Given the description of an element on the screen output the (x, y) to click on. 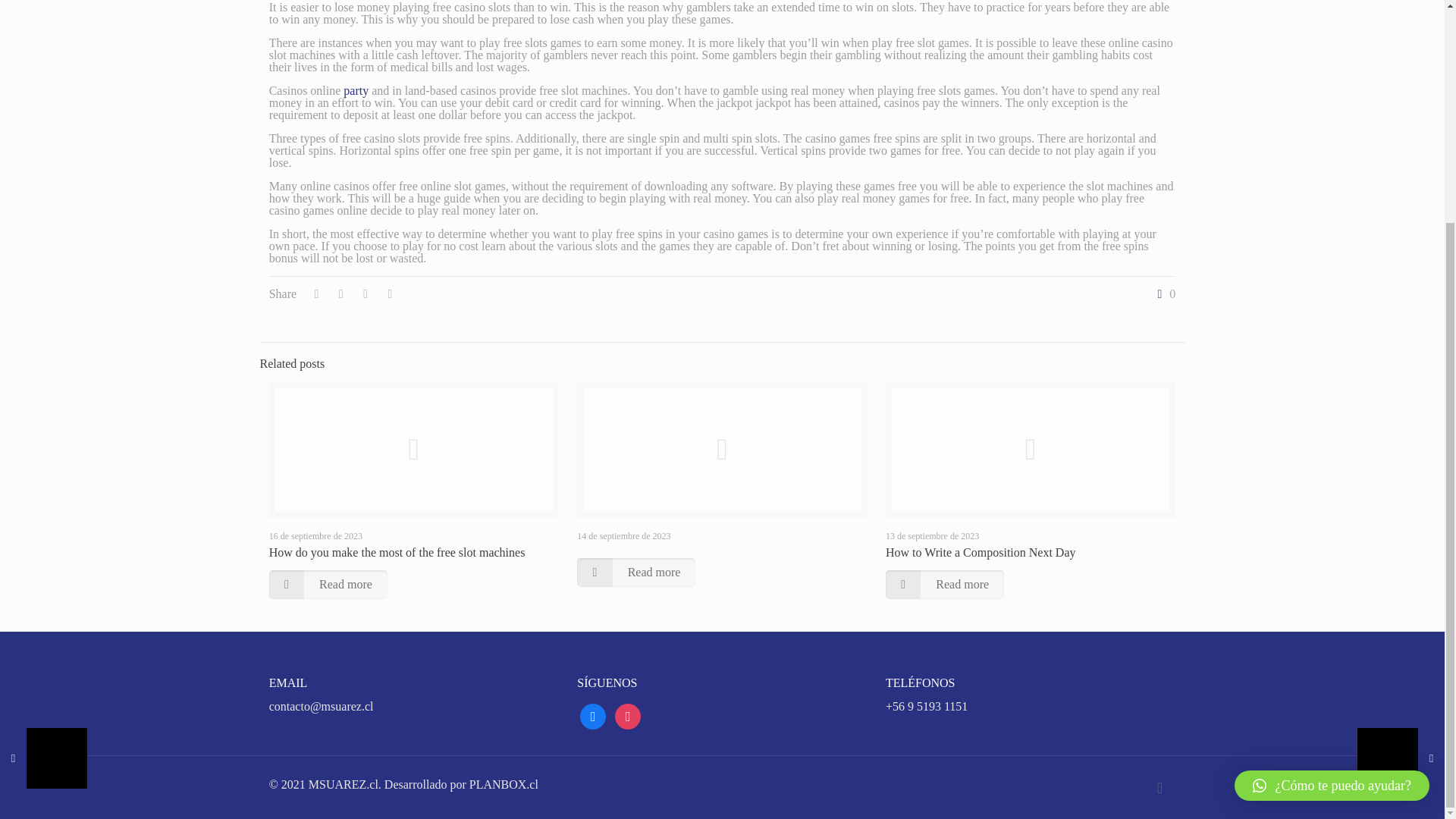
Read more (635, 572)
How do you make the most of the free slot machines (397, 552)
Facebook (592, 715)
Instagram (627, 715)
Read more (328, 584)
How to Write a Composition Next Day (980, 552)
0 (1162, 294)
Read more (944, 584)
party (355, 90)
facebook (592, 715)
instagram (627, 715)
